Given the description of an element on the screen output the (x, y) to click on. 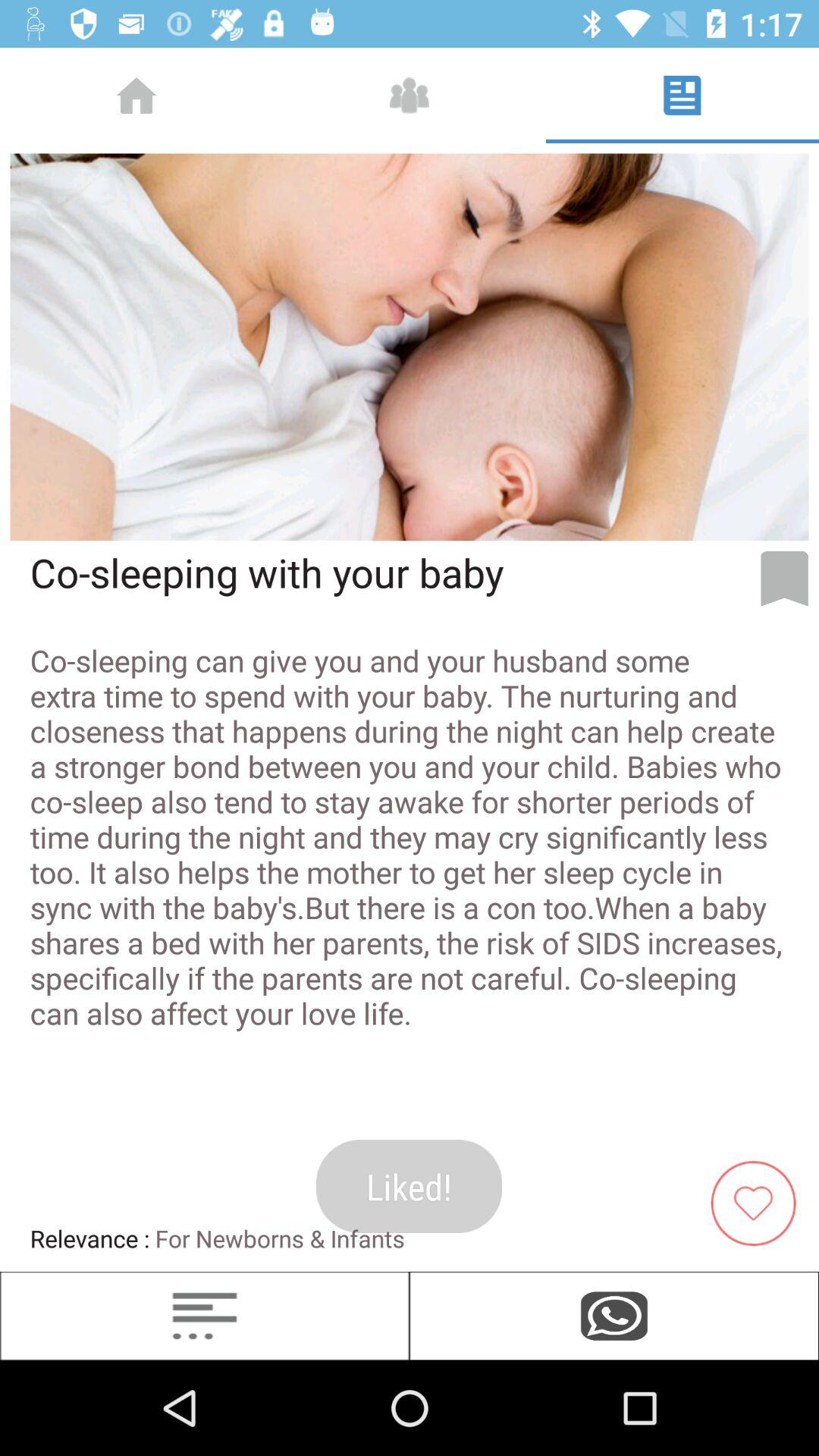
press icon below relevance : (204, 1315)
